Given the description of an element on the screen output the (x, y) to click on. 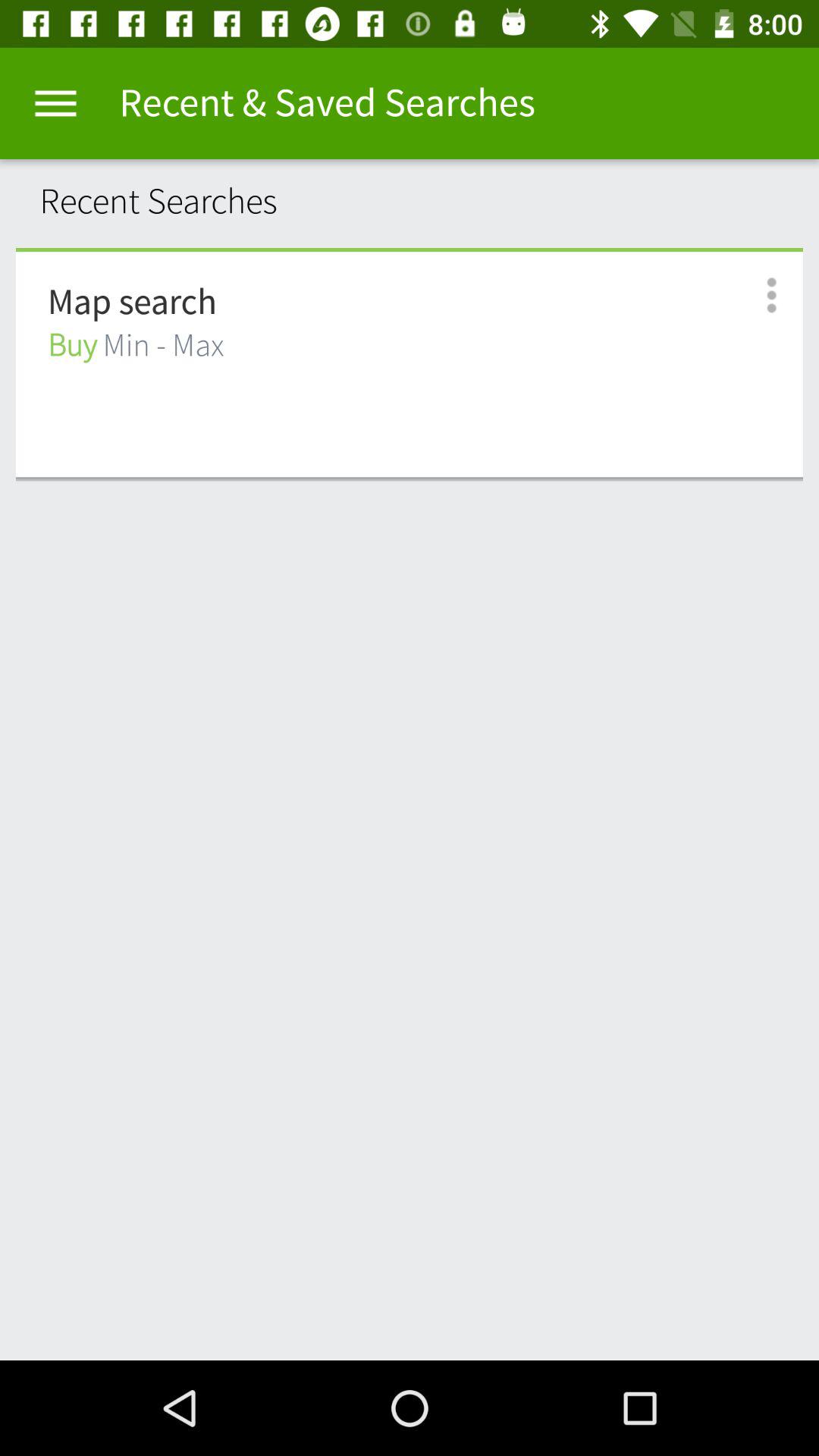
click icon below the map search item (135, 345)
